Given the description of an element on the screen output the (x, y) to click on. 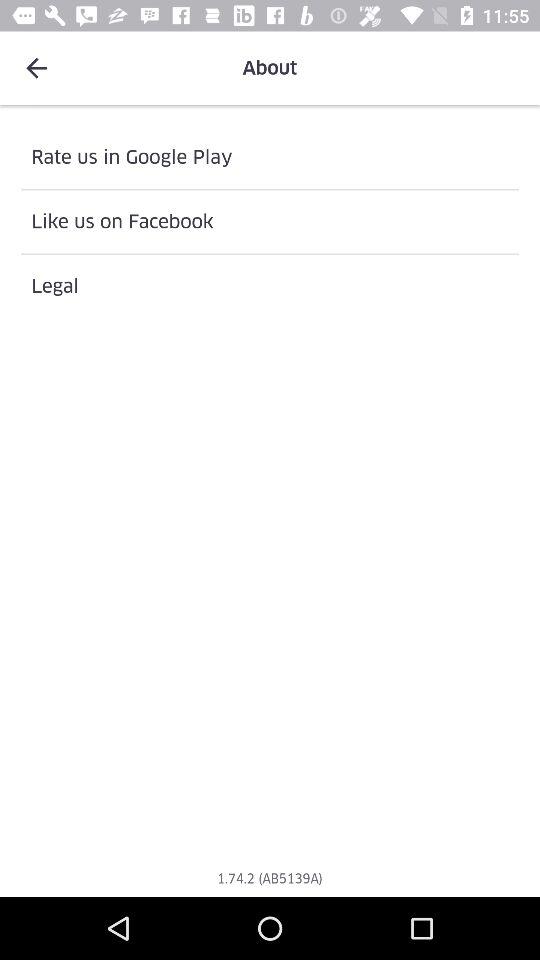
tap the icon below the like us on (270, 286)
